Given the description of an element on the screen output the (x, y) to click on. 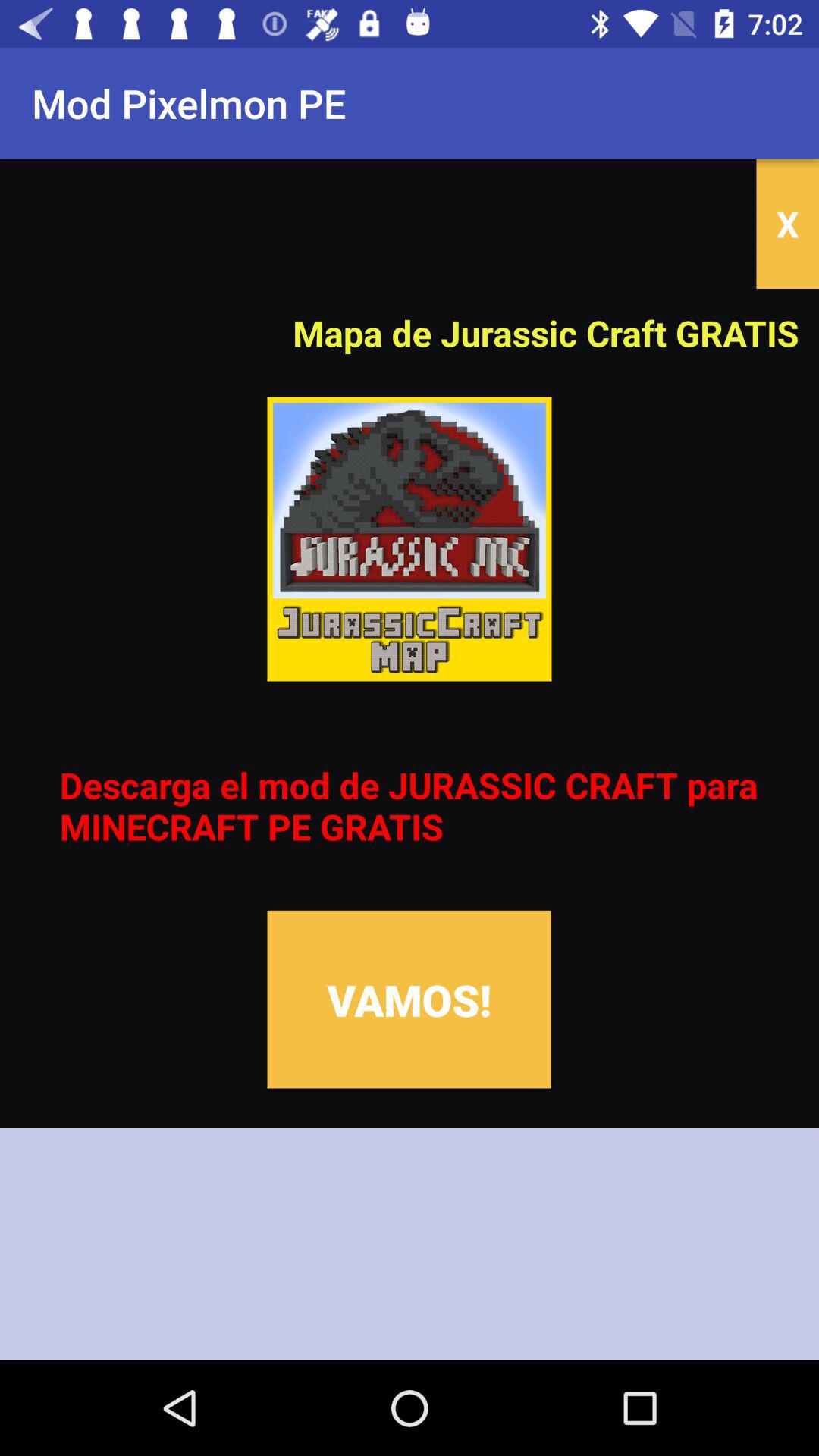
launch the vamos! icon (409, 999)
